Given the description of an element on the screen output the (x, y) to click on. 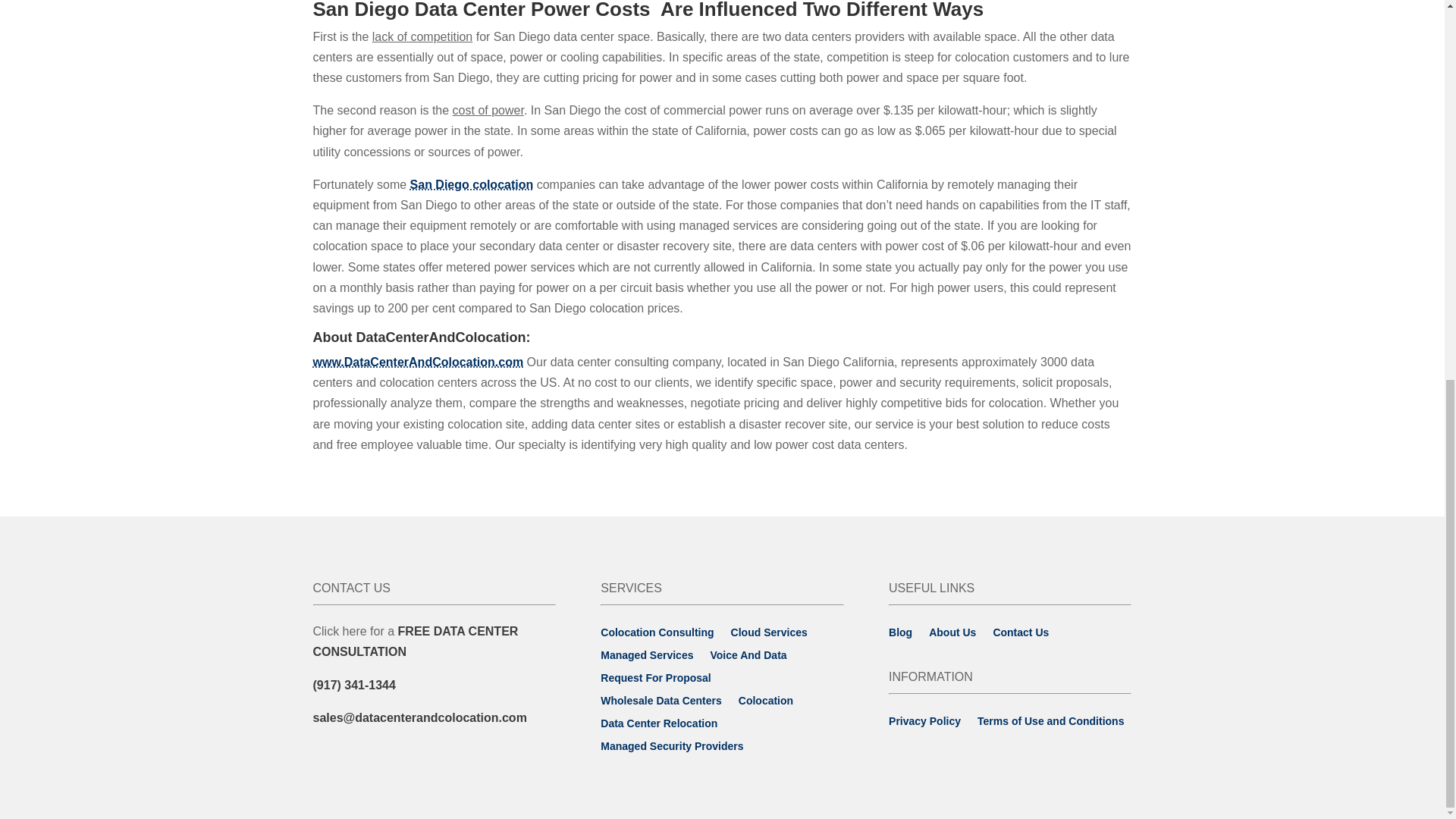
Colocation Consulting (415, 641)
Data Center and Colocation (417, 361)
San Diego data centers (472, 184)
